Given the description of an element on the screen output the (x, y) to click on. 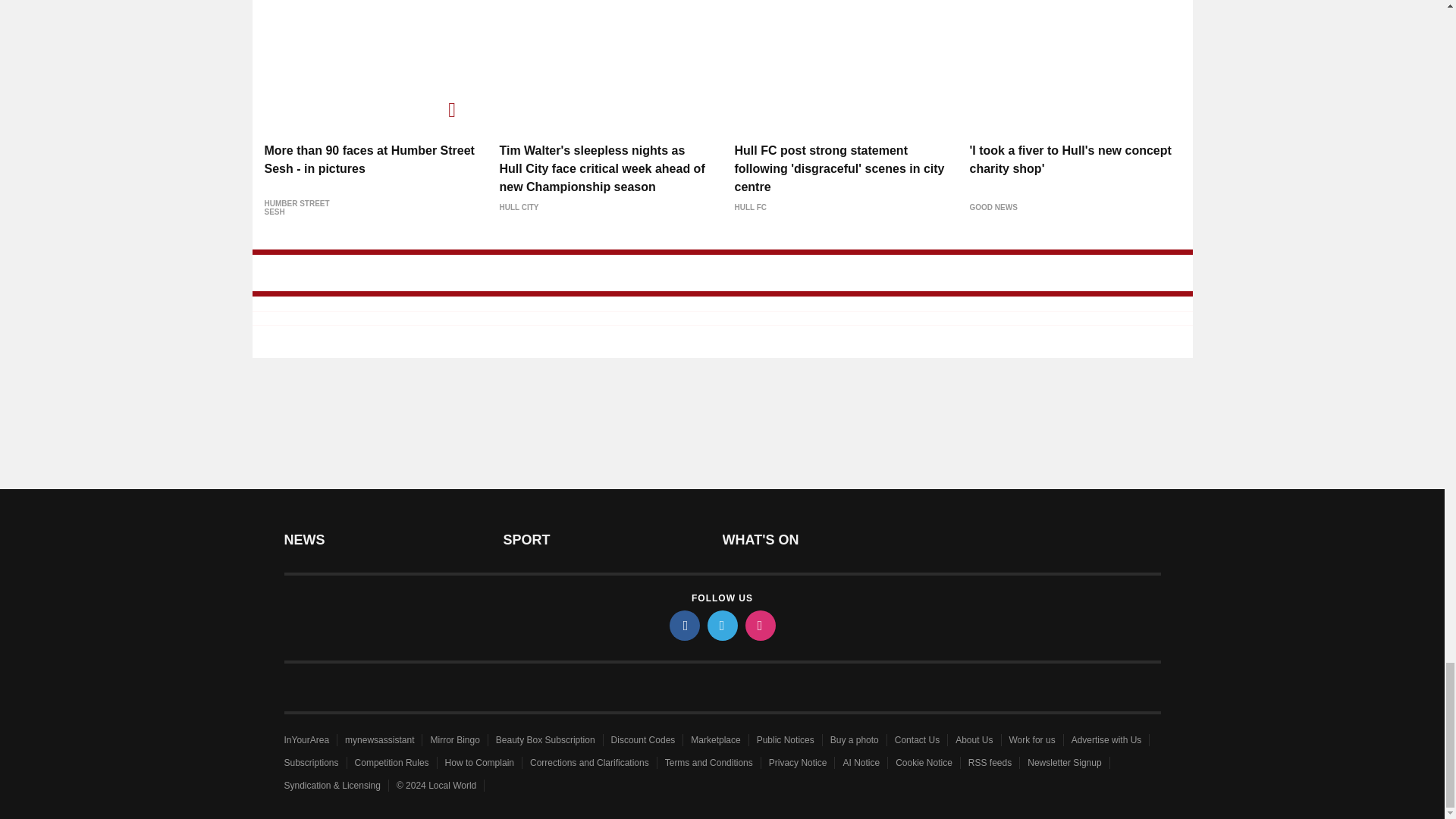
facebook (683, 625)
instagram (759, 625)
twitter (721, 625)
